Given the description of an element on the screen output the (x, y) to click on. 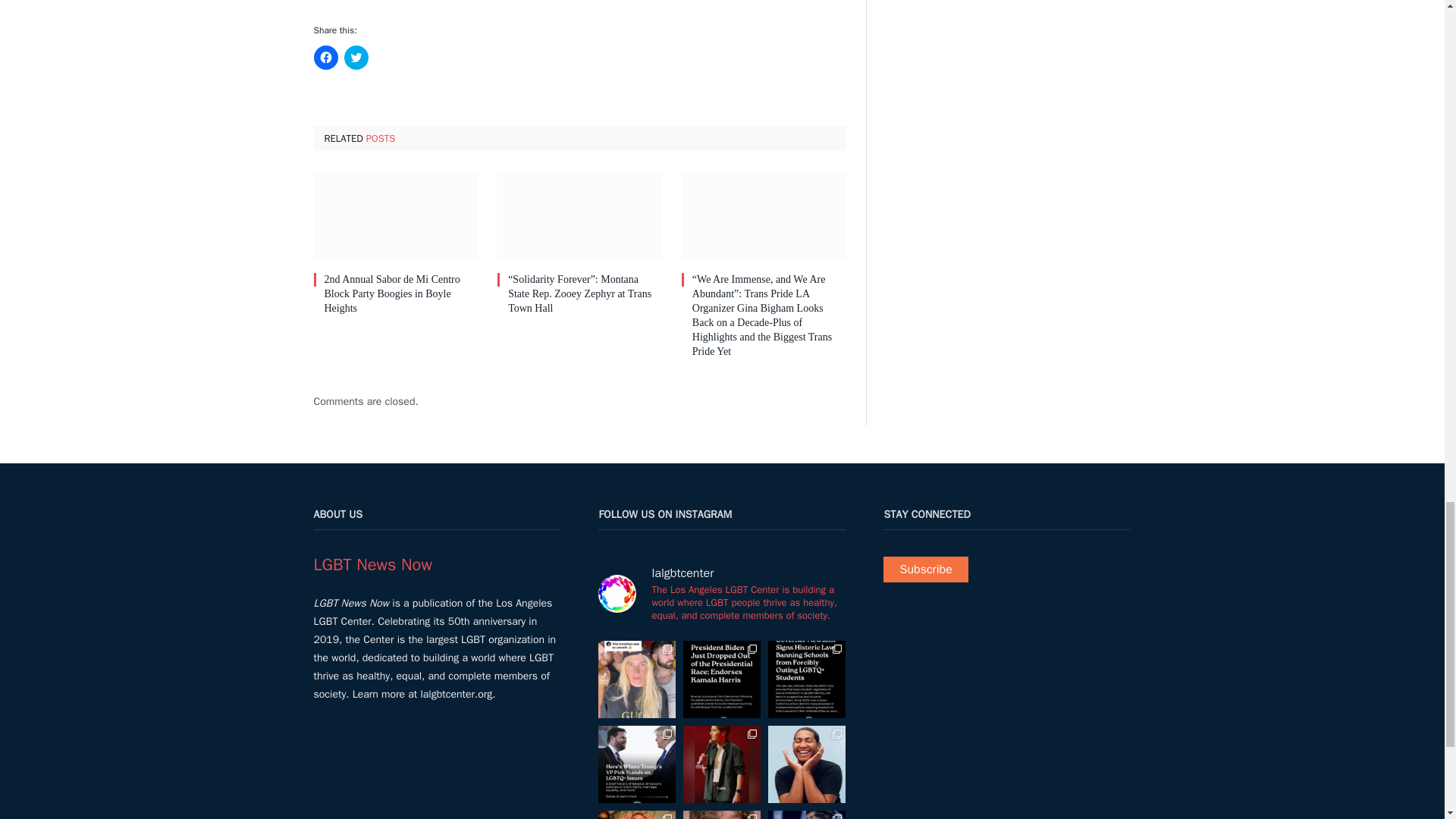
Click to share on Facebook (325, 57)
Click to share on Twitter (355, 57)
